Given the description of an element on the screen output the (x, y) to click on. 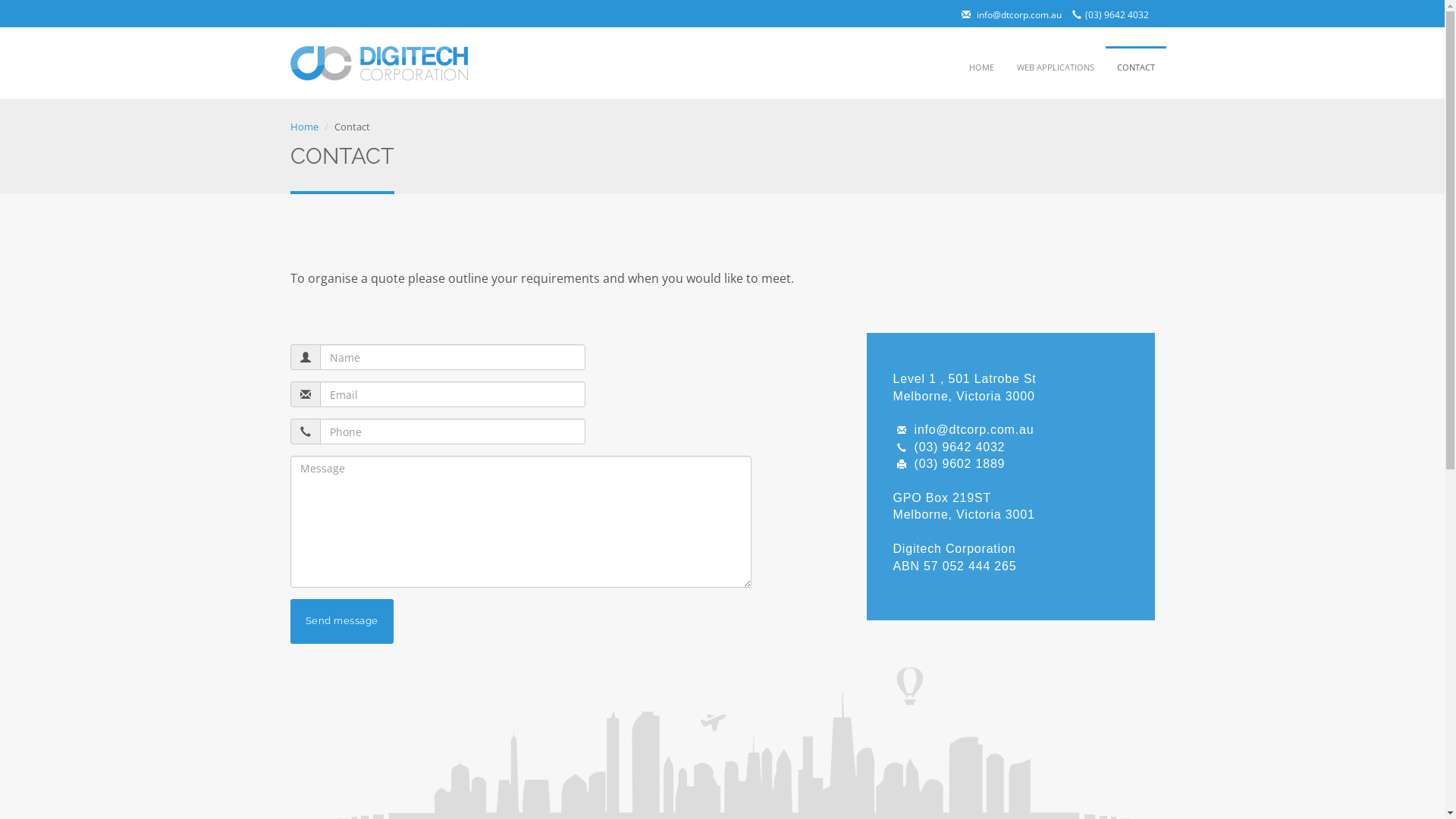
(03) 9642 4032 Element type: text (1107, 14)
HOME Element type: text (980, 66)
WEB APPLICATIONS Element type: text (1055, 66)
Home Element type: text (303, 126)
info@dtcorp.com.au Element type: text (963, 429)
CONTACT Element type: text (1135, 66)
Send message Element type: text (340, 621)
(03) 9642 4032 Element type: text (949, 446)
info@dtcorp.com.au Element type: text (1008, 14)
